Given the description of an element on the screen output the (x, y) to click on. 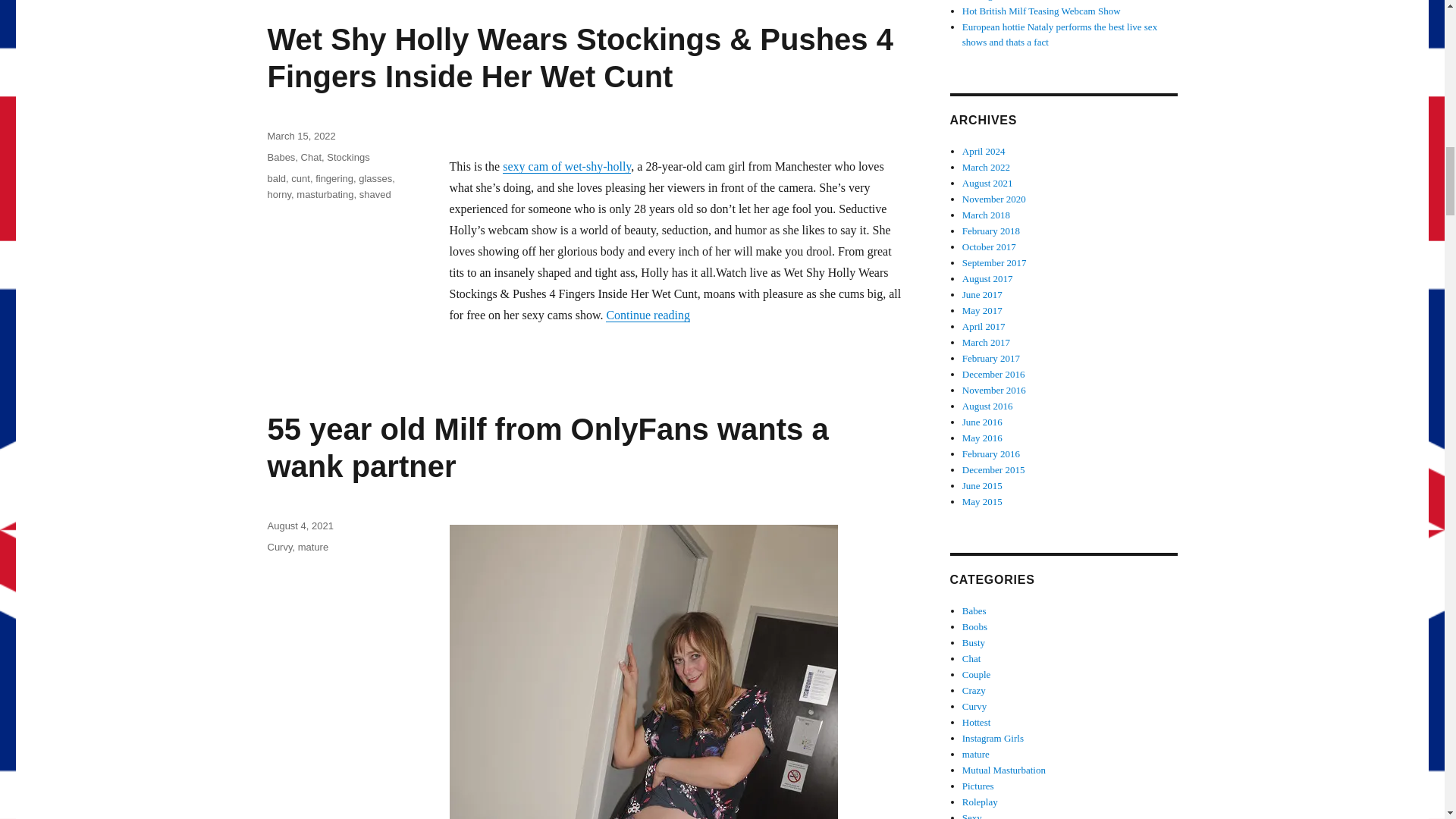
Babes (280, 156)
March 15, 2022 (300, 135)
sexy cam of wet-shy-holly (566, 165)
Chat (311, 156)
Stockings (347, 156)
